Given the description of an element on the screen output the (x, y) to click on. 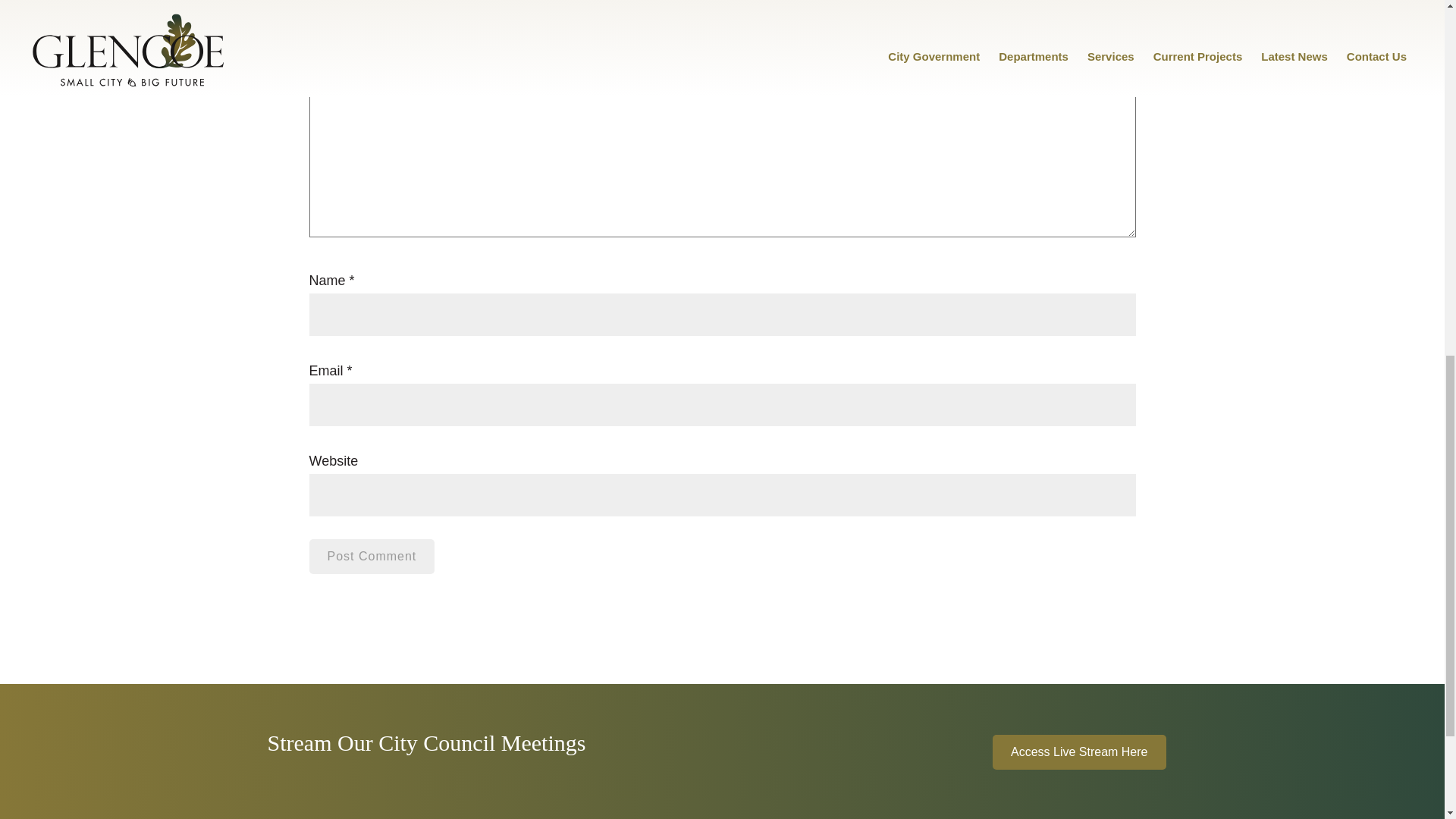
Post Comment (371, 556)
